Given the description of an element on the screen output the (x, y) to click on. 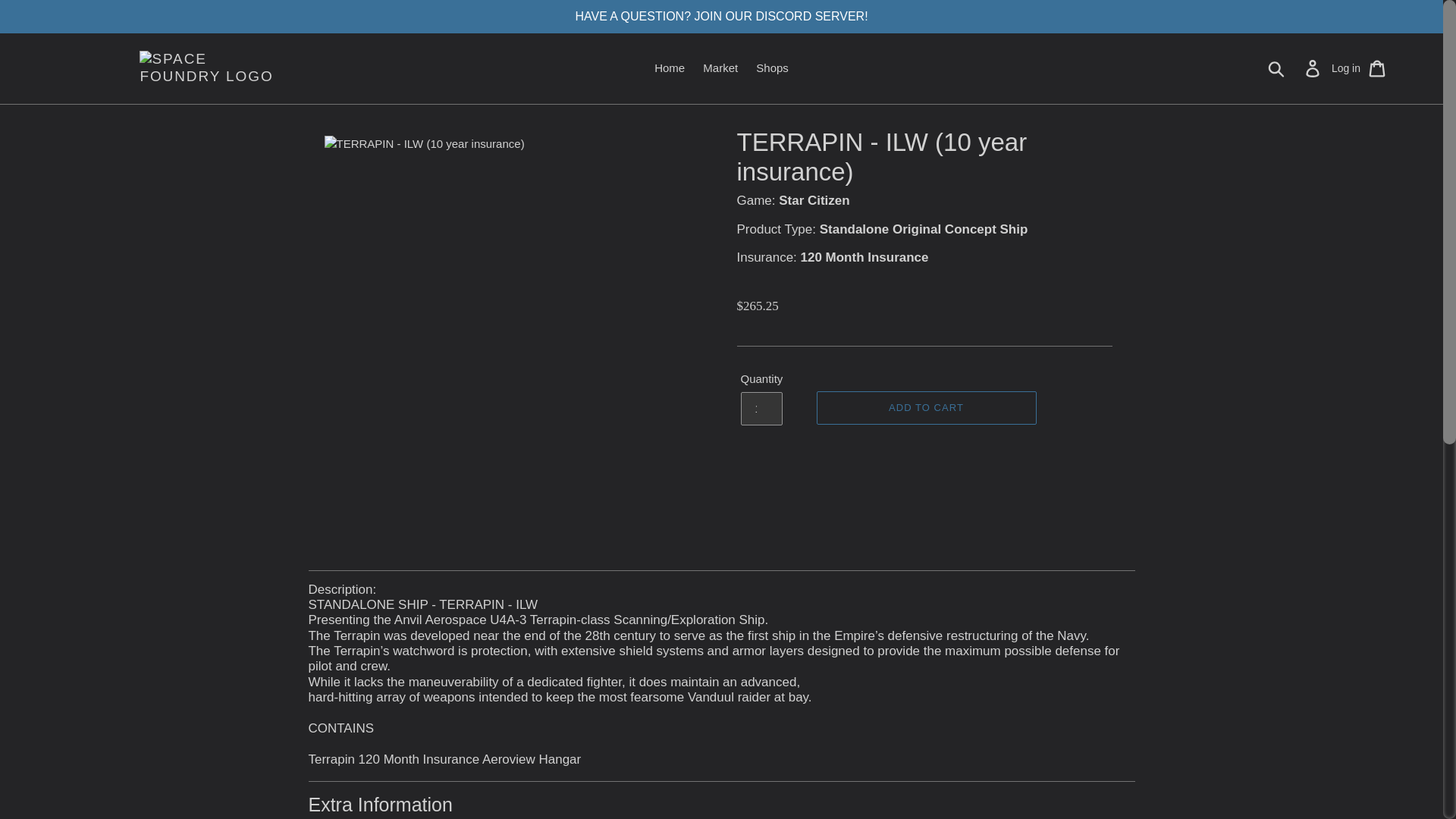
Market (720, 68)
Submit (1277, 68)
Shops (772, 68)
Log in (1345, 68)
120 Month Insurance (864, 257)
ADD TO CART (925, 408)
Home (669, 68)
1 (761, 408)
Star Citizen (813, 200)
Cart (1377, 68)
Log in (1313, 68)
Standalone Original Concept Ship (923, 228)
